Given the description of an element on the screen output the (x, y) to click on. 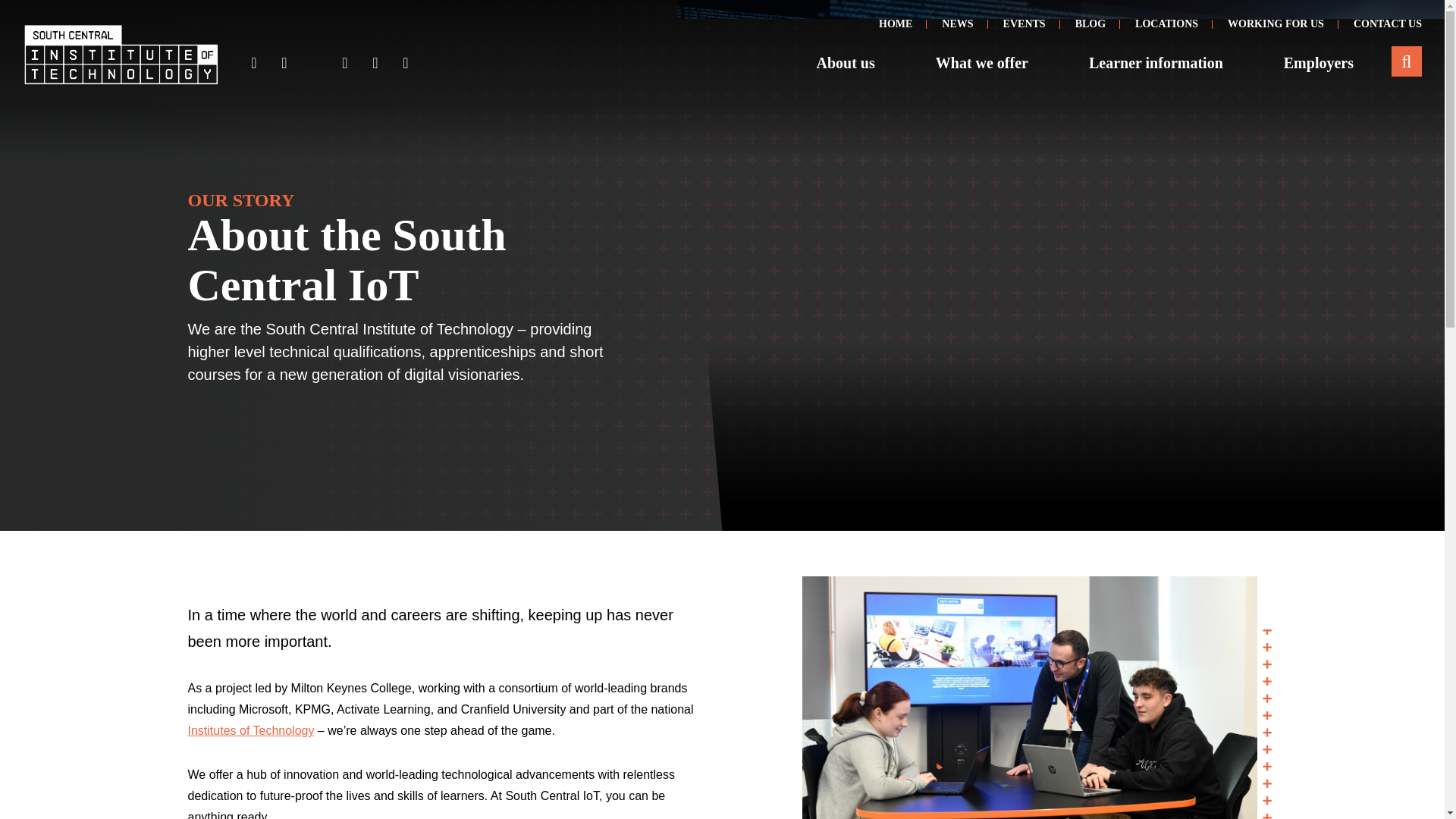
What we offer (981, 62)
Facebook (253, 62)
Twitter (314, 62)
YouTube (344, 62)
LinkedIn (375, 62)
TikTok (405, 62)
Instagram (284, 62)
About us (845, 62)
